Given the description of an element on the screen output the (x, y) to click on. 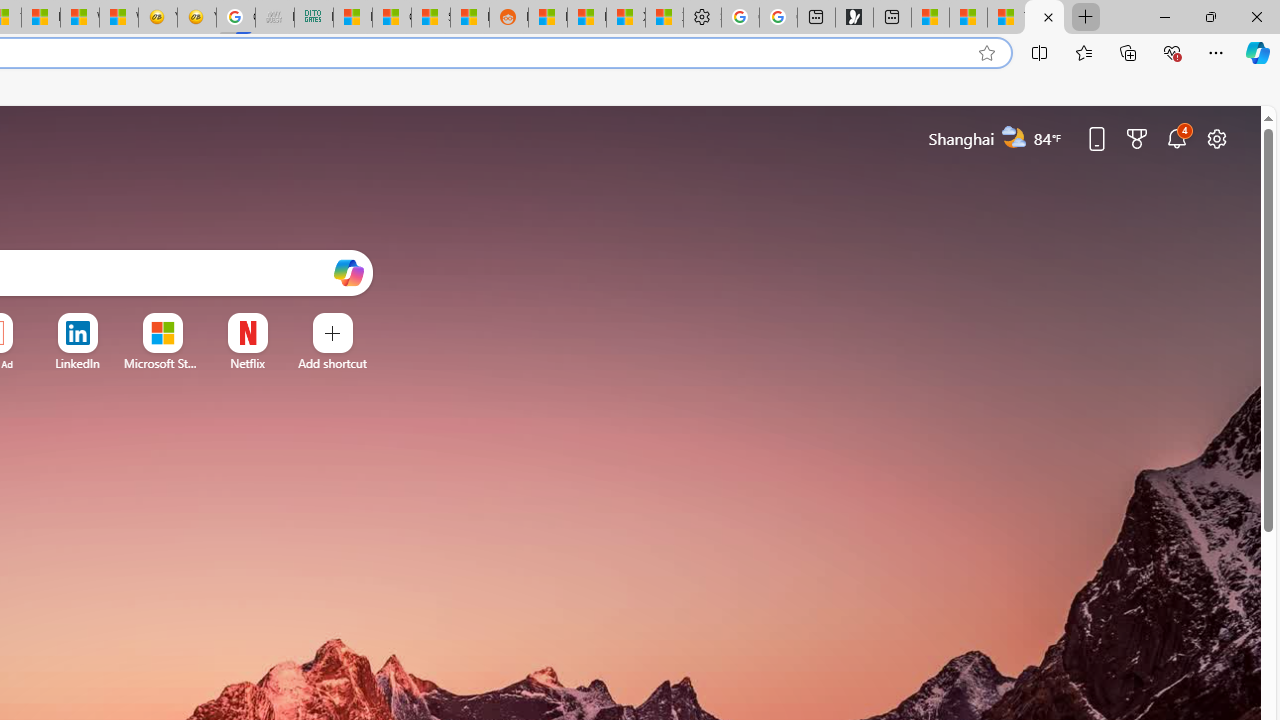
Notifications (1176, 138)
Stocks - MSN (431, 17)
R******* | Trusted Community Engagement and Contributions (547, 17)
Partly cloudy (1014, 137)
Page settings (1216, 138)
